Given the description of an element on the screen output the (x, y) to click on. 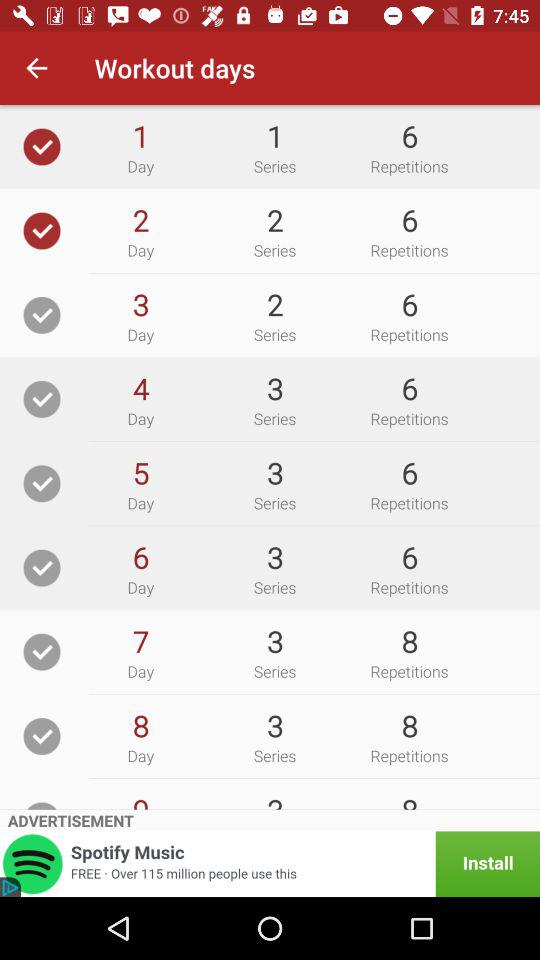
click the 4 icon (140, 388)
